Given the description of an element on the screen output the (x, y) to click on. 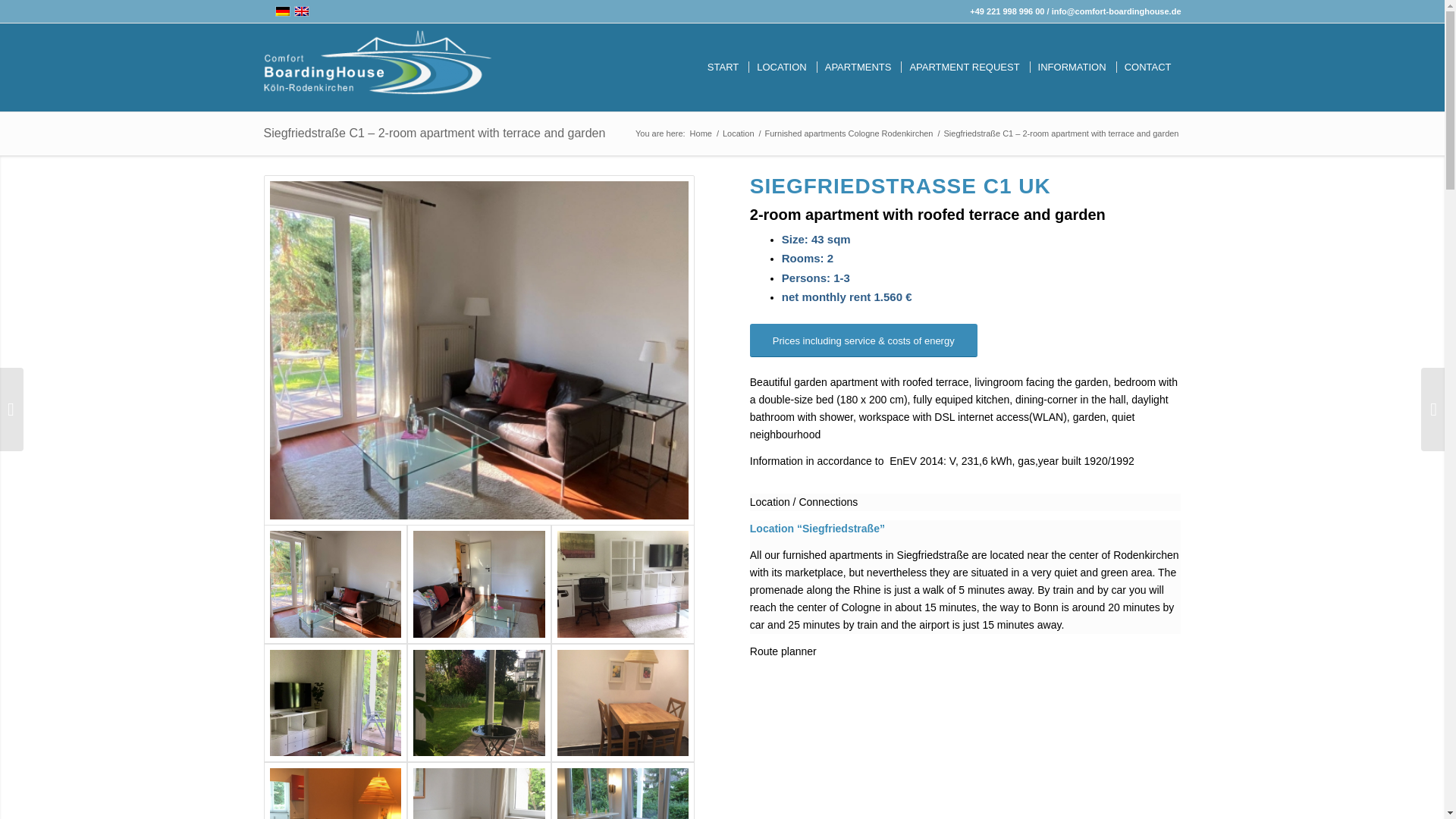
Location (738, 133)
APARTMENT REQUEST (965, 67)
English (301, 10)
Deutsch (282, 10)
Home (700, 133)
comfort-boardinghouse.de (700, 133)
Furnished apartments Cologne Rodenkirchen (849, 133)
Location (738, 133)
Furnished apartments Cologne Rodenkirchen (849, 133)
INFORMATION (1072, 67)
